Given the description of an element on the screen output the (x, y) to click on. 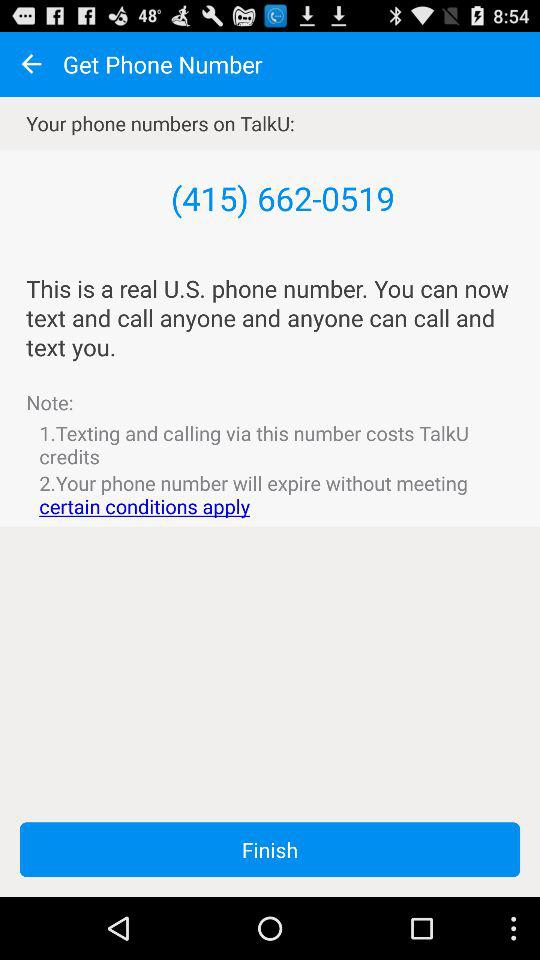
swipe until finish icon (269, 849)
